Given the description of an element on the screen output the (x, y) to click on. 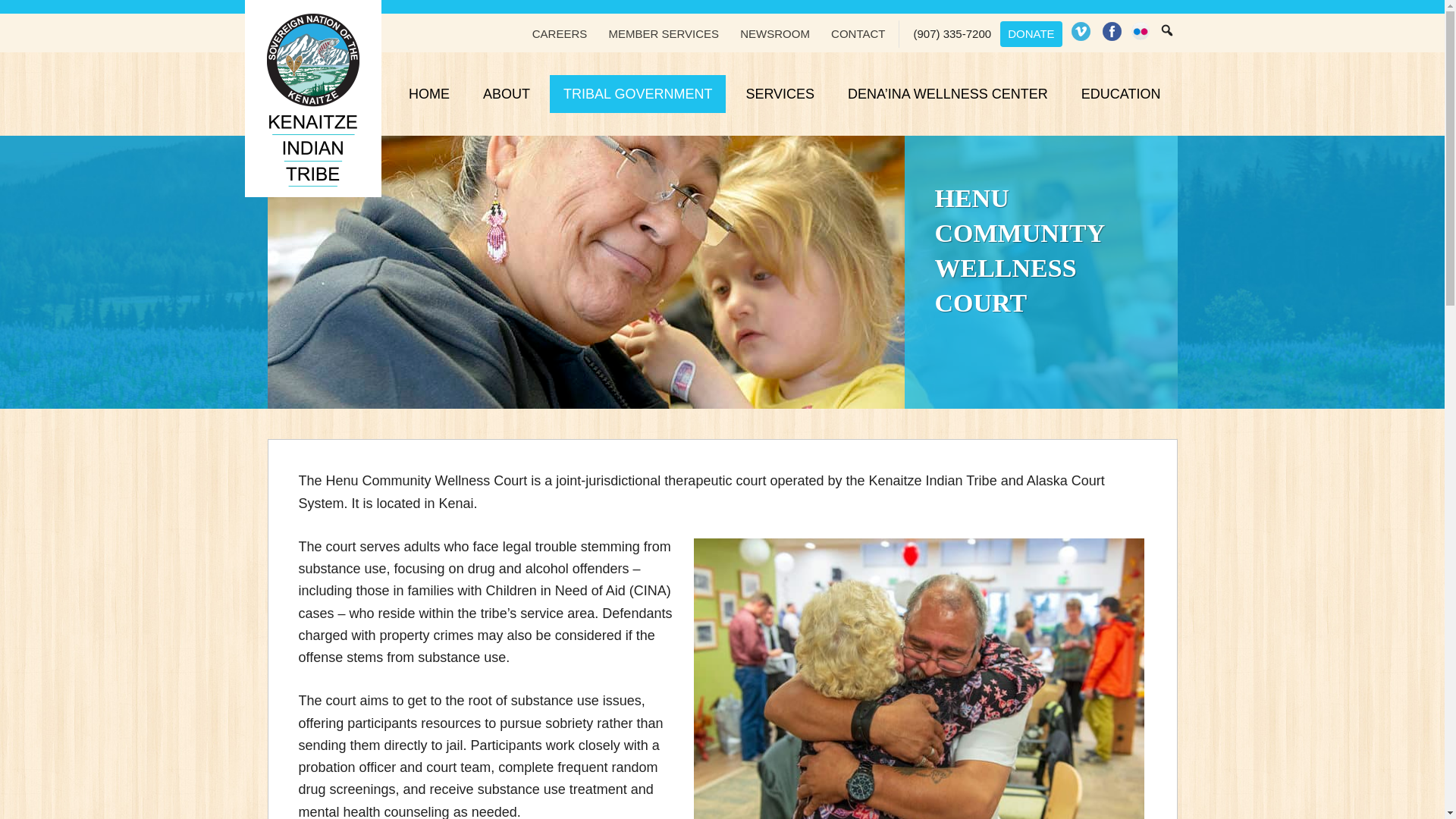
NEWSROOM (774, 33)
ABOUT (505, 94)
MEMBER SERVICES (663, 33)
HOME (428, 94)
DONATE (1030, 33)
CONTACT (857, 33)
TRIBAL GOVERNMENT (637, 94)
CAREERS (559, 33)
